Given the description of an element on the screen output the (x, y) to click on. 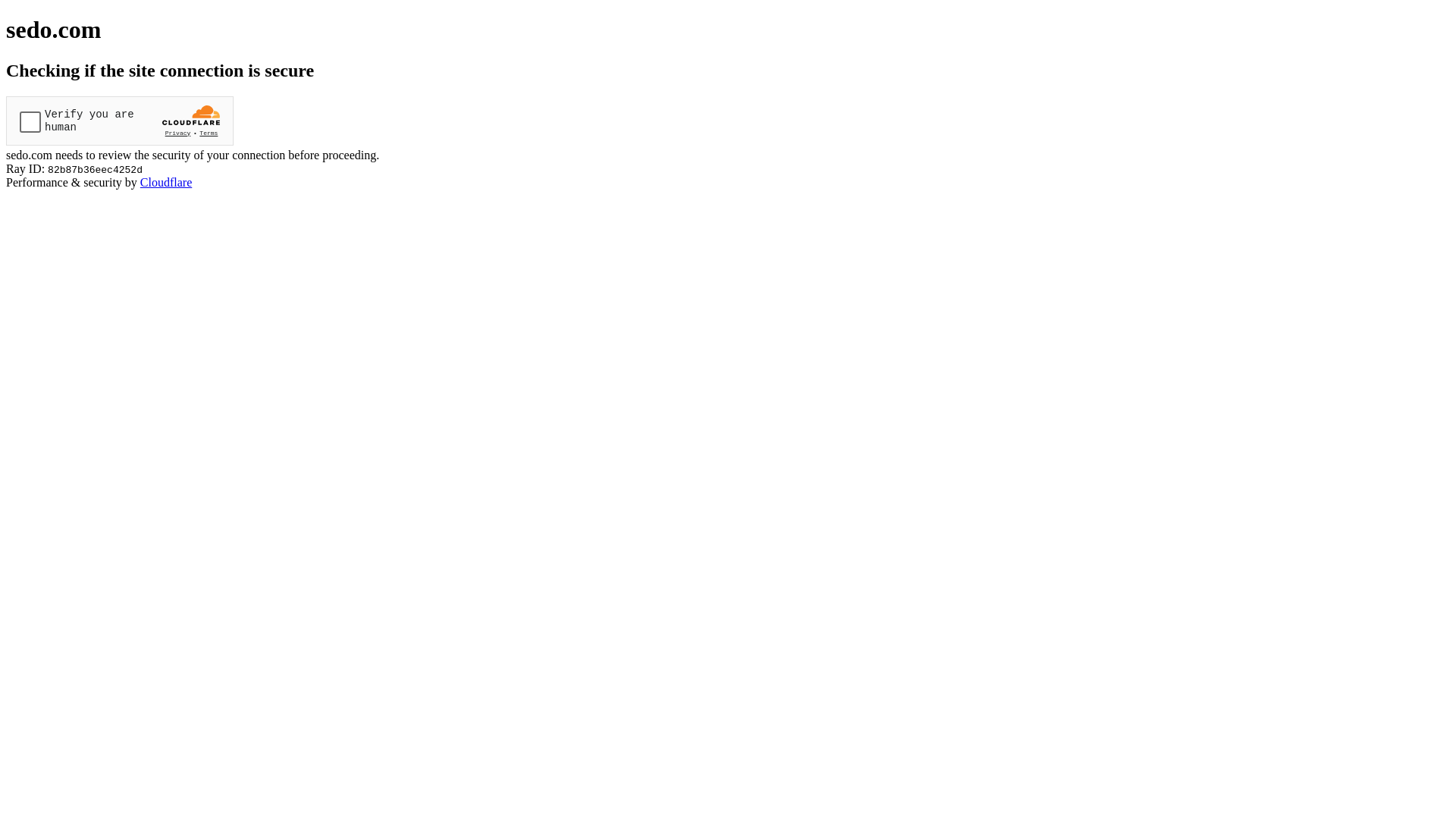
Cloudflare Element type: text (165, 181)
Widget containing a Cloudflare security challenge Element type: hover (119, 120)
